Given the description of an element on the screen output the (x, y) to click on. 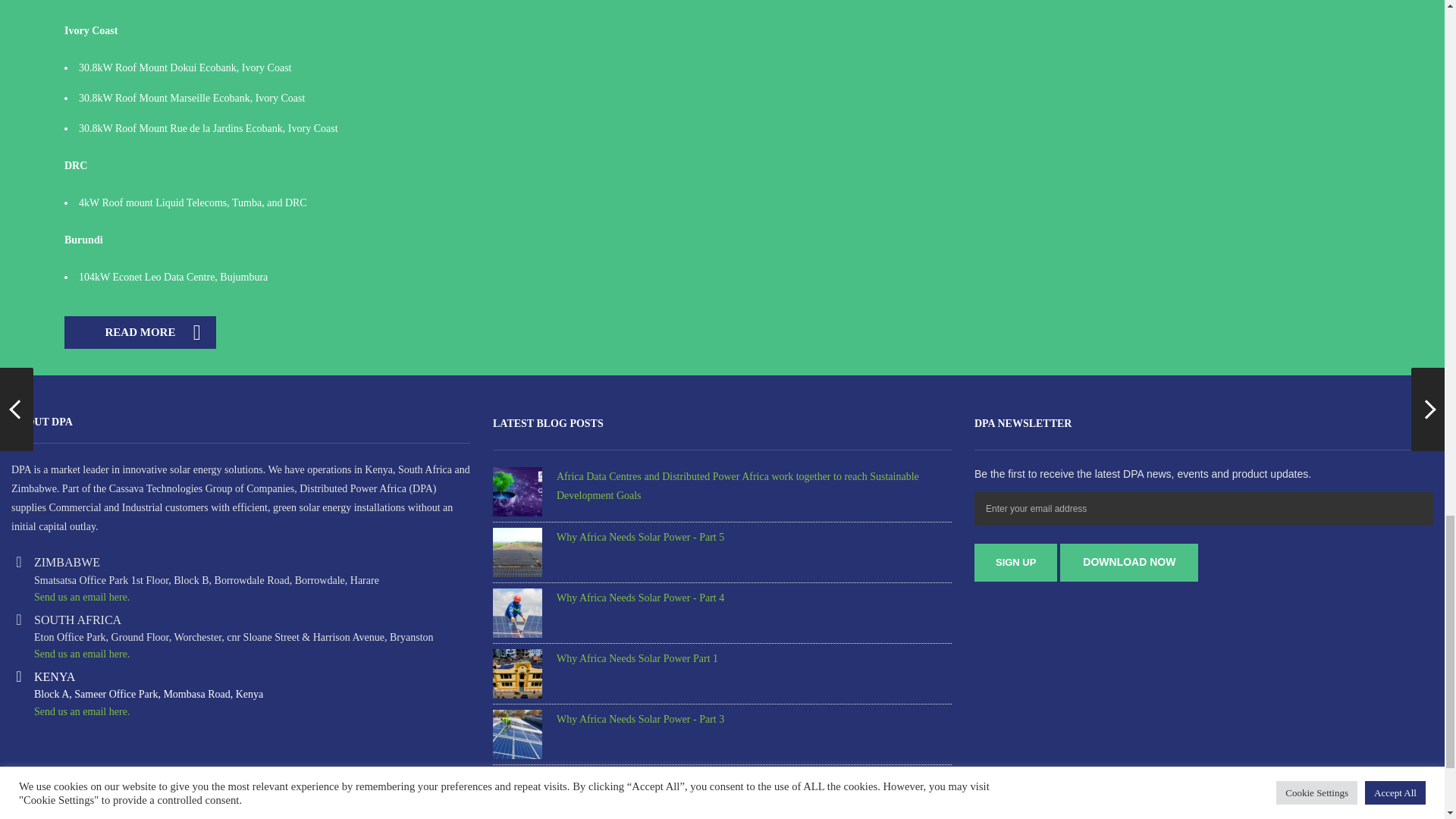
Sign Up (1015, 562)
READ MORE (139, 332)
Projects (139, 332)
Send us an email here. (81, 654)
Send us an email here. (81, 596)
LATEST BLOG POSTS (548, 423)
The Sun and Spotlight Shines on DPA (1128, 562)
Send us an email here. (81, 711)
